Given the description of an element on the screen output the (x, y) to click on. 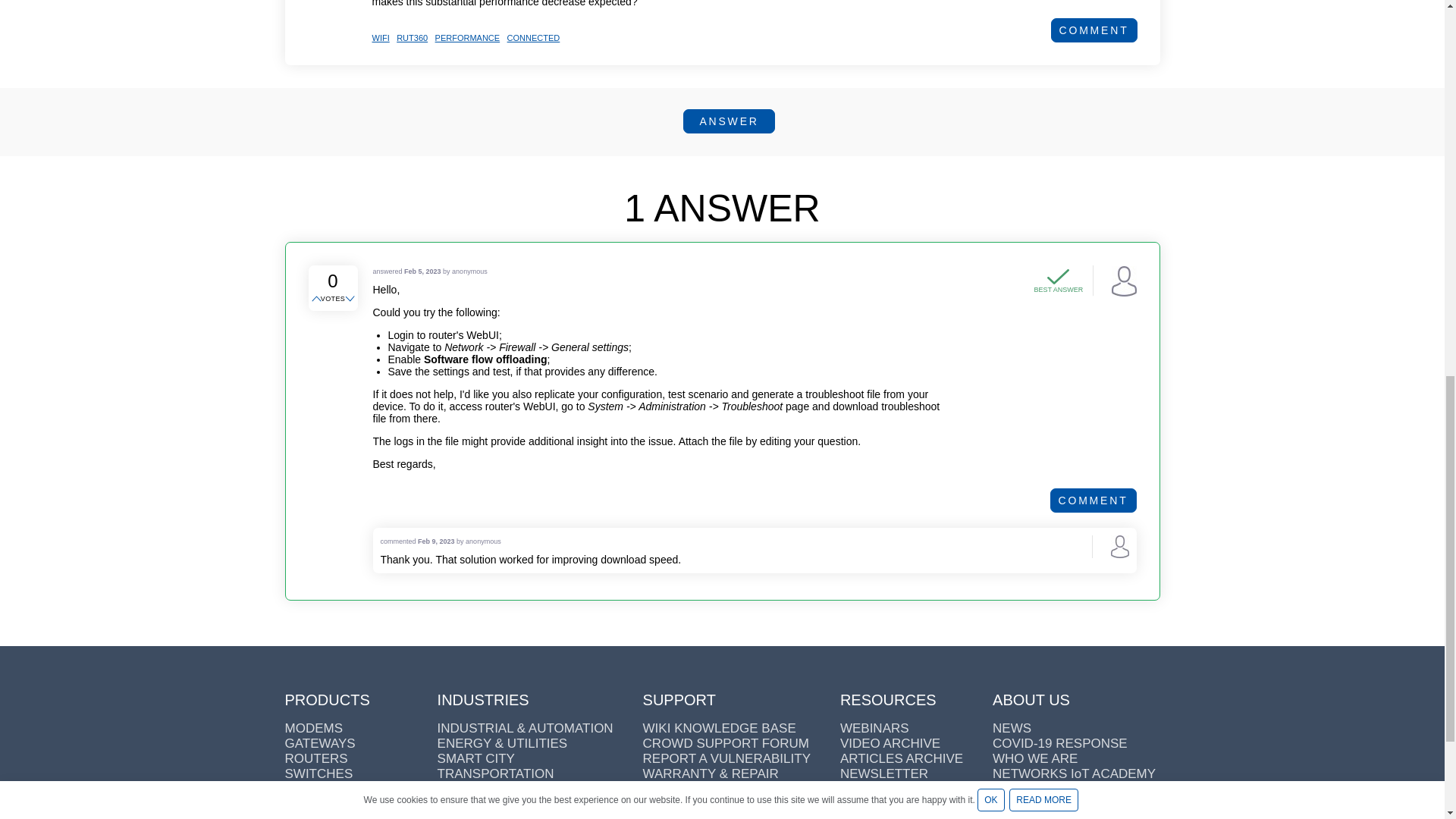
Click to vote down (349, 299)
Add a comment on this question (1094, 30)
comment (1094, 30)
Click to vote up (317, 299)
Add a comment on this answer (1093, 500)
answer (728, 120)
Answer this question (728, 120)
comment (1093, 500)
